Given the description of an element on the screen output the (x, y) to click on. 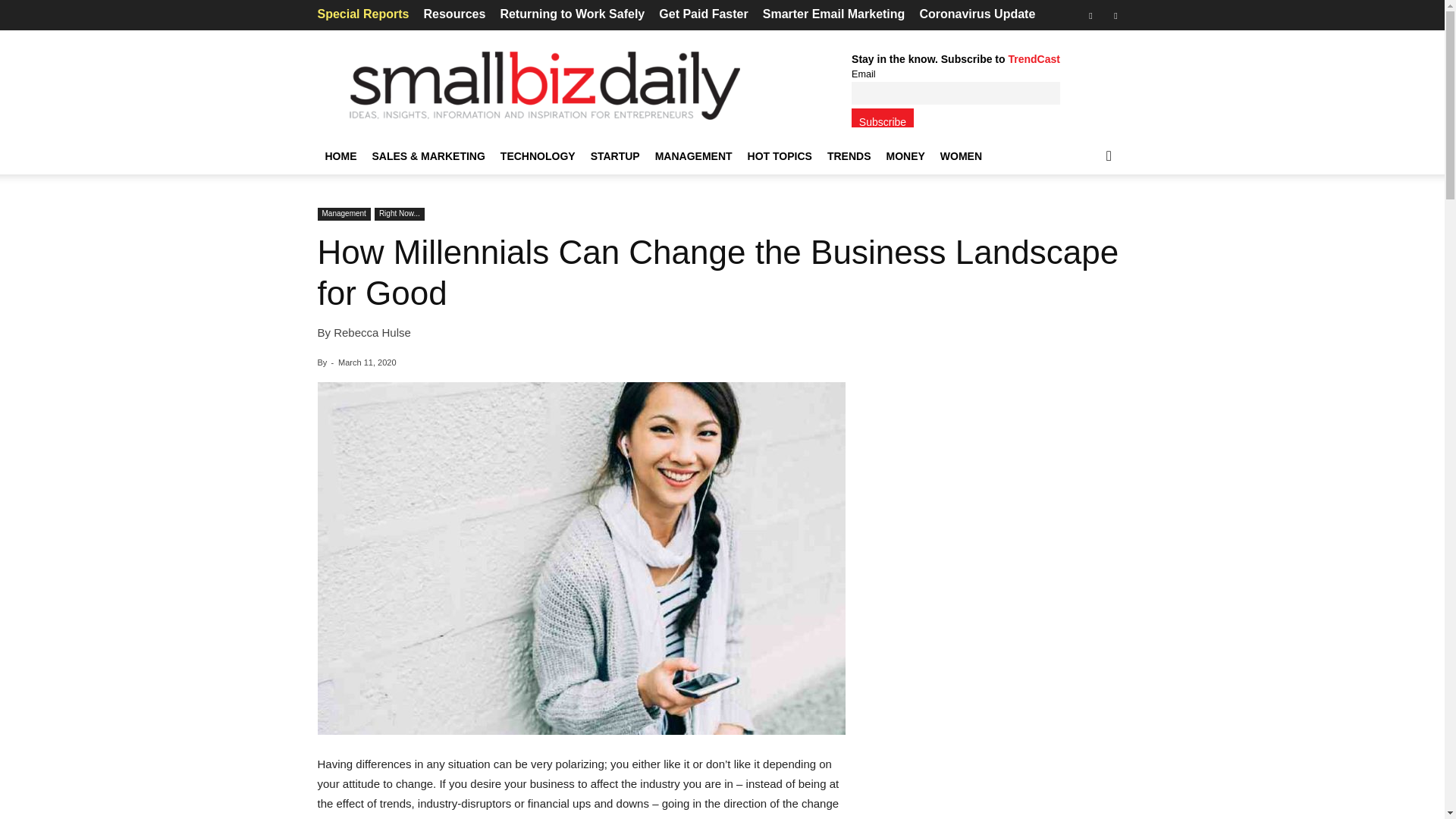
HOT TOPICS (779, 156)
MONEY (904, 156)
RSS (1114, 14)
Facebook (1090, 14)
HOME (340, 156)
TRENDS (849, 156)
Special Reports (363, 13)
Get Paid Faster (703, 13)
Coronavirus Update (976, 13)
Smarter Email Marketing (833, 13)
